Given the description of an element on the screen output the (x, y) to click on. 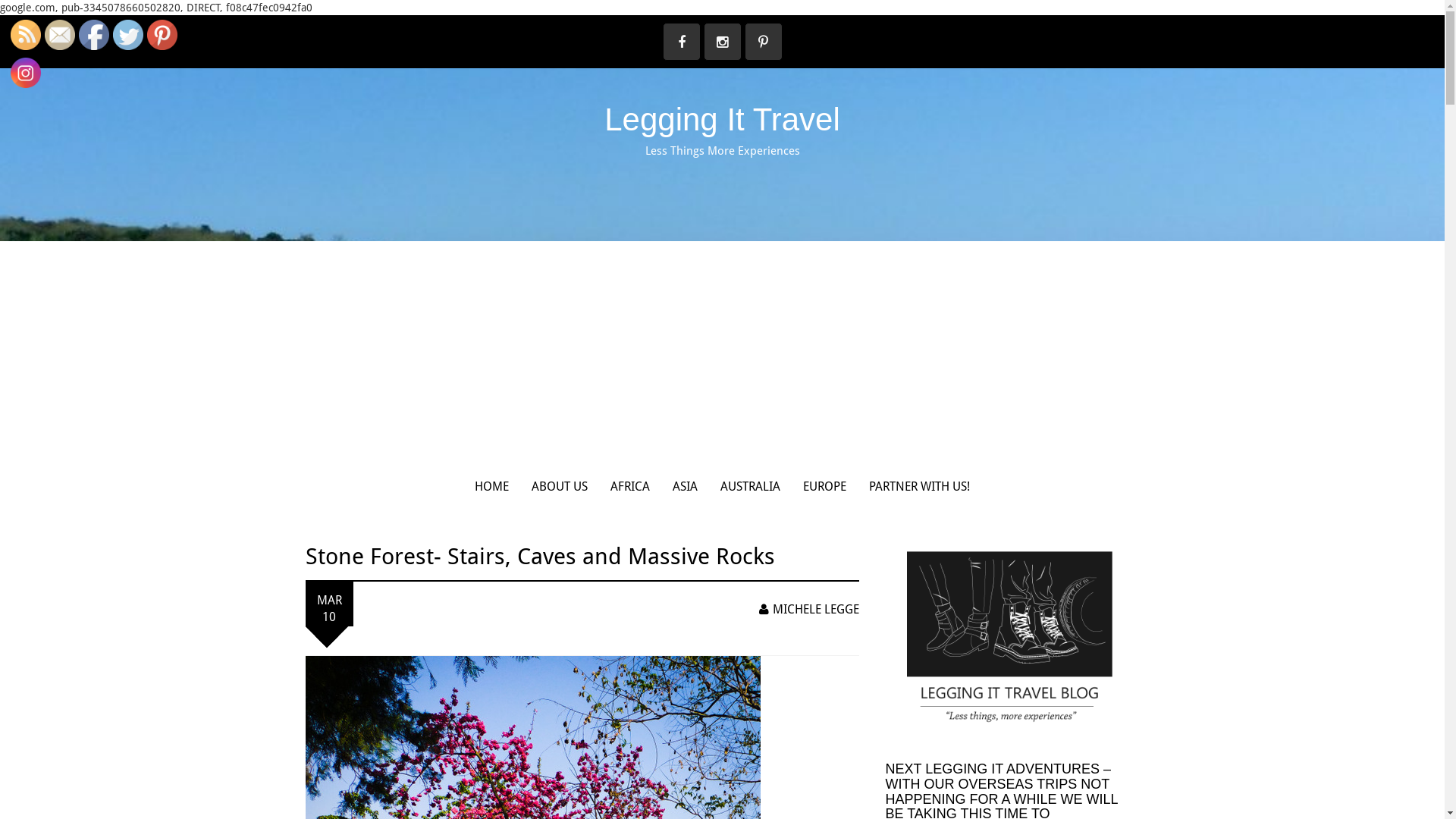
Follow by Email Element type: hover (59, 34)
ABOUT US Element type: text (559, 486)
Twitter Element type: hover (127, 34)
MICHELE LEGGE Element type: text (808, 609)
Pinterest Element type: hover (162, 34)
Legging It Travel Element type: text (722, 119)
Advertisement Element type: hover (721, 354)
AUSTRALIA Element type: text (750, 486)
AFRICA Element type: text (629, 486)
Facebook Element type: hover (93, 34)
RSS Element type: hover (25, 34)
EUROPE Element type: text (824, 486)
Instagram Element type: hover (25, 72)
ASIA Element type: text (684, 486)
HOME Element type: text (491, 486)
PARTNER WITH US! Element type: text (919, 486)
